Given the description of an element on the screen output the (x, y) to click on. 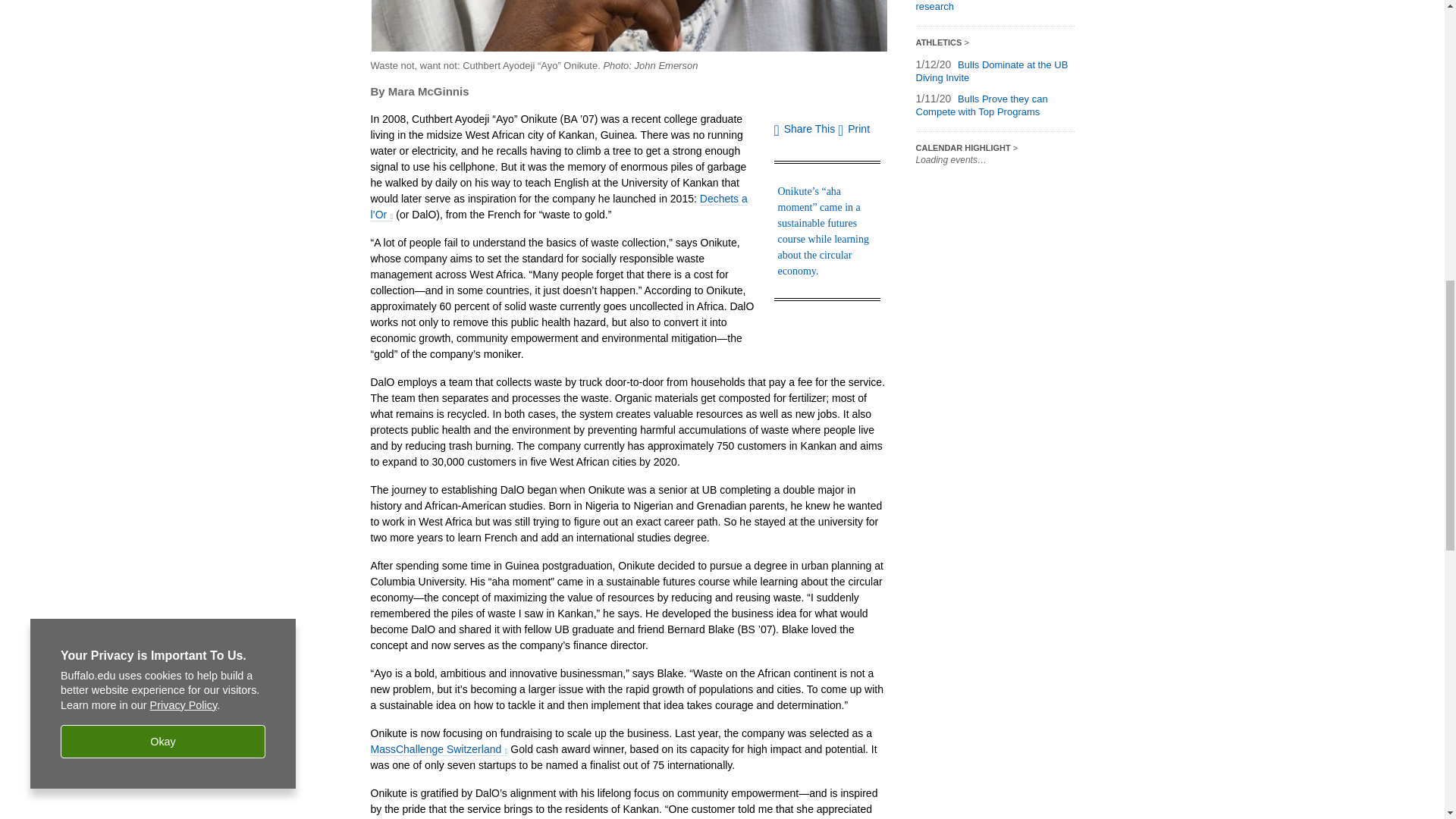
Share This (803, 130)
Print (853, 128)
MassChallenge Switzerland (437, 748)
This link opens a page in a new window or tab. (557, 206)
This link opens a page in a new window or tab. (437, 748)
